Given the description of an element on the screen output the (x, y) to click on. 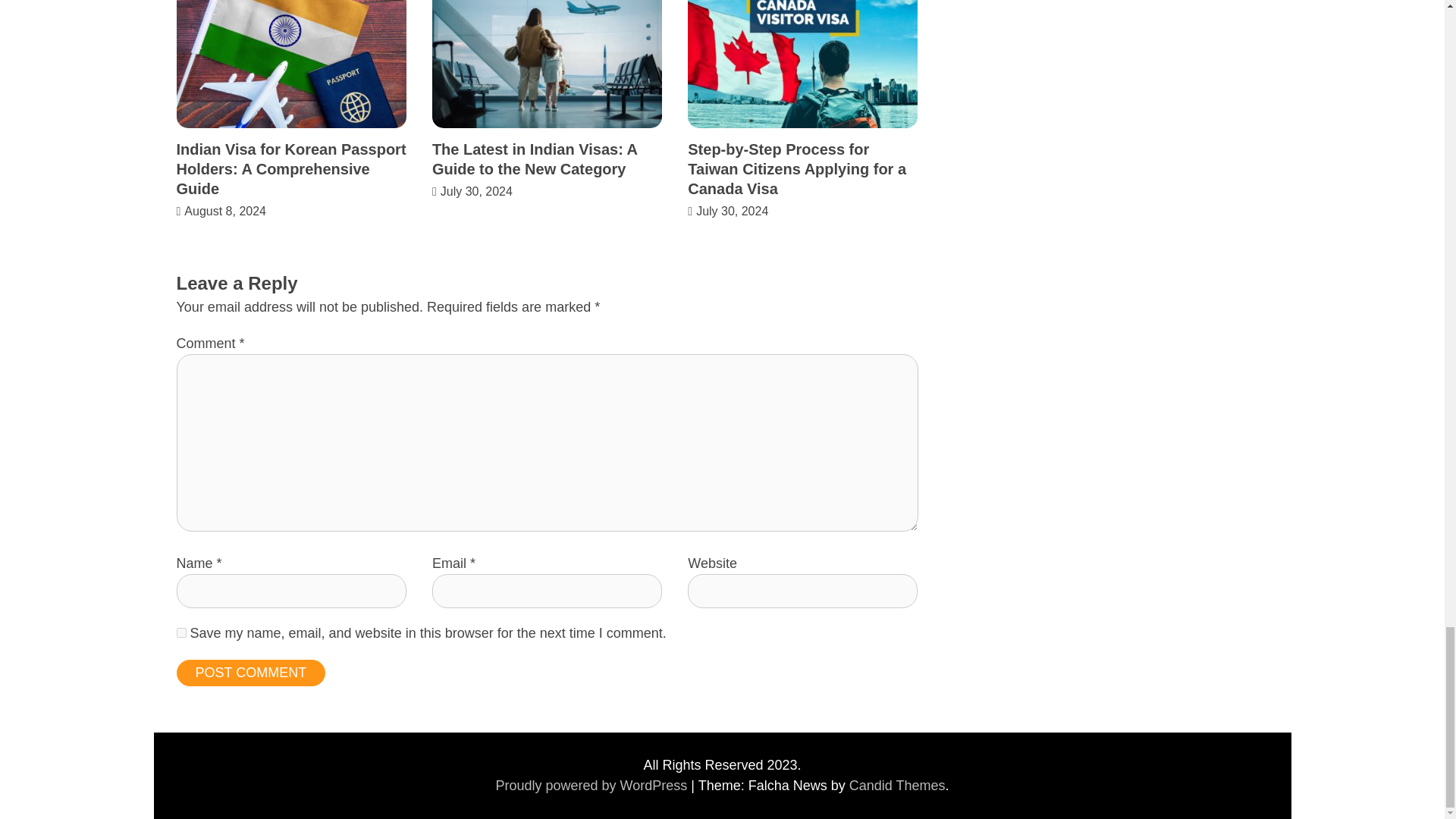
July 30, 2024 (476, 191)
August 8, 2024 (225, 210)
The Latest in Indian Visas: A Guide to the New Category (534, 158)
Post Comment (250, 673)
yes (181, 633)
